Given the description of an element on the screen output the (x, y) to click on. 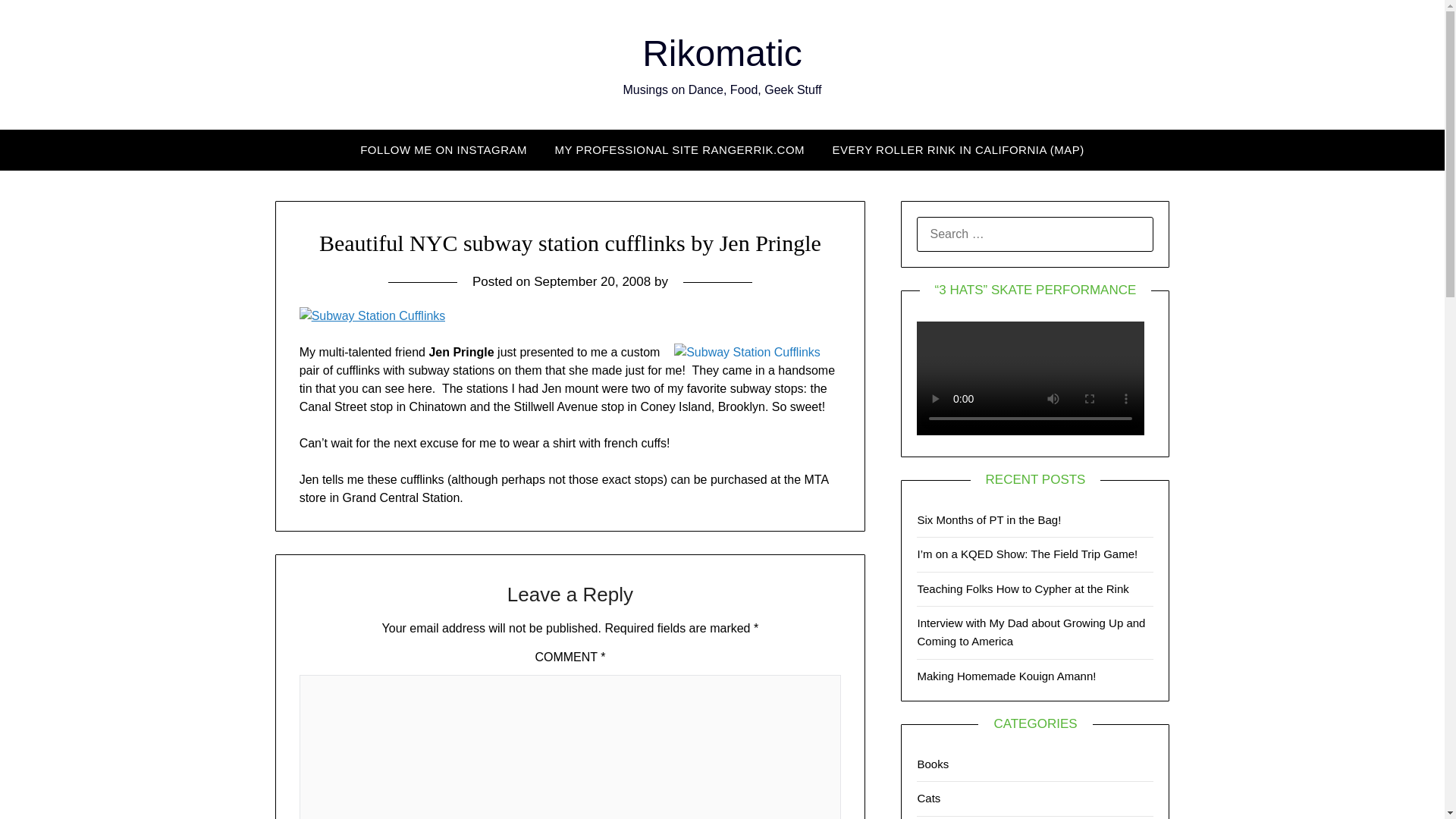
Search (38, 22)
MY PROFESSIONAL SITE RANGERRIK.COM (679, 149)
FOLLOW ME ON INSTAGRAM (442, 149)
Six Months of PT in the Bag! (989, 519)
Books (933, 763)
Rikomatic (722, 53)
Subway Station Cufflinks by rikomatic, on Flickr (372, 315)
September 20, 2008 (592, 281)
Making Homemade Kouign Amann! (1006, 675)
Cats (928, 797)
